Given the description of an element on the screen output the (x, y) to click on. 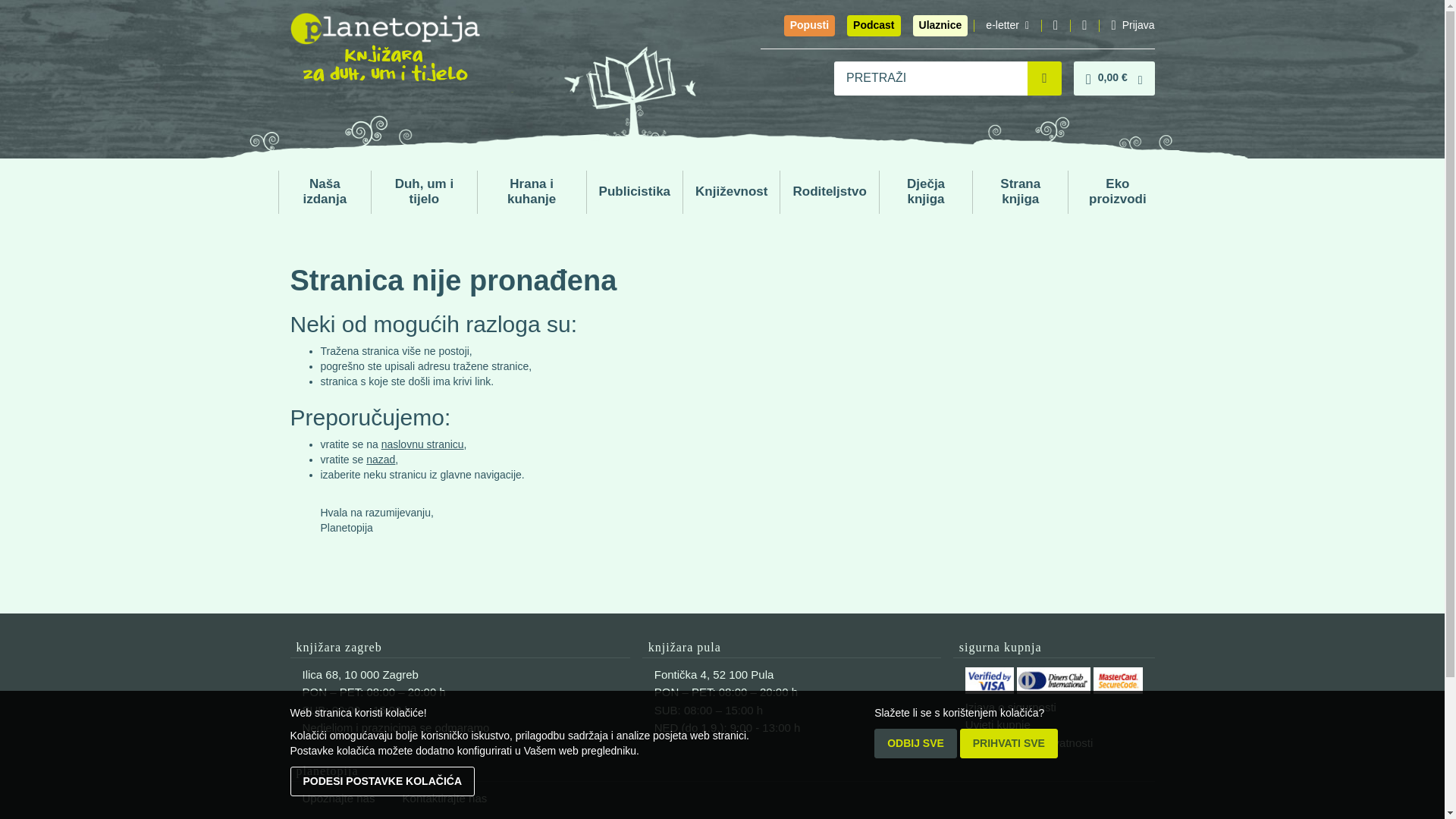
Publicistika (634, 191)
Ulaznice (940, 25)
Duh, um i tijelo (424, 191)
Hrana i kuhanje (531, 191)
Roditeljstvo (828, 191)
naslovnu stranicu (422, 444)
Popusti (809, 25)
Strana knjiga (1019, 191)
Podcast (873, 25)
e-letter (1007, 25)
